Given the description of an element on the screen output the (x, y) to click on. 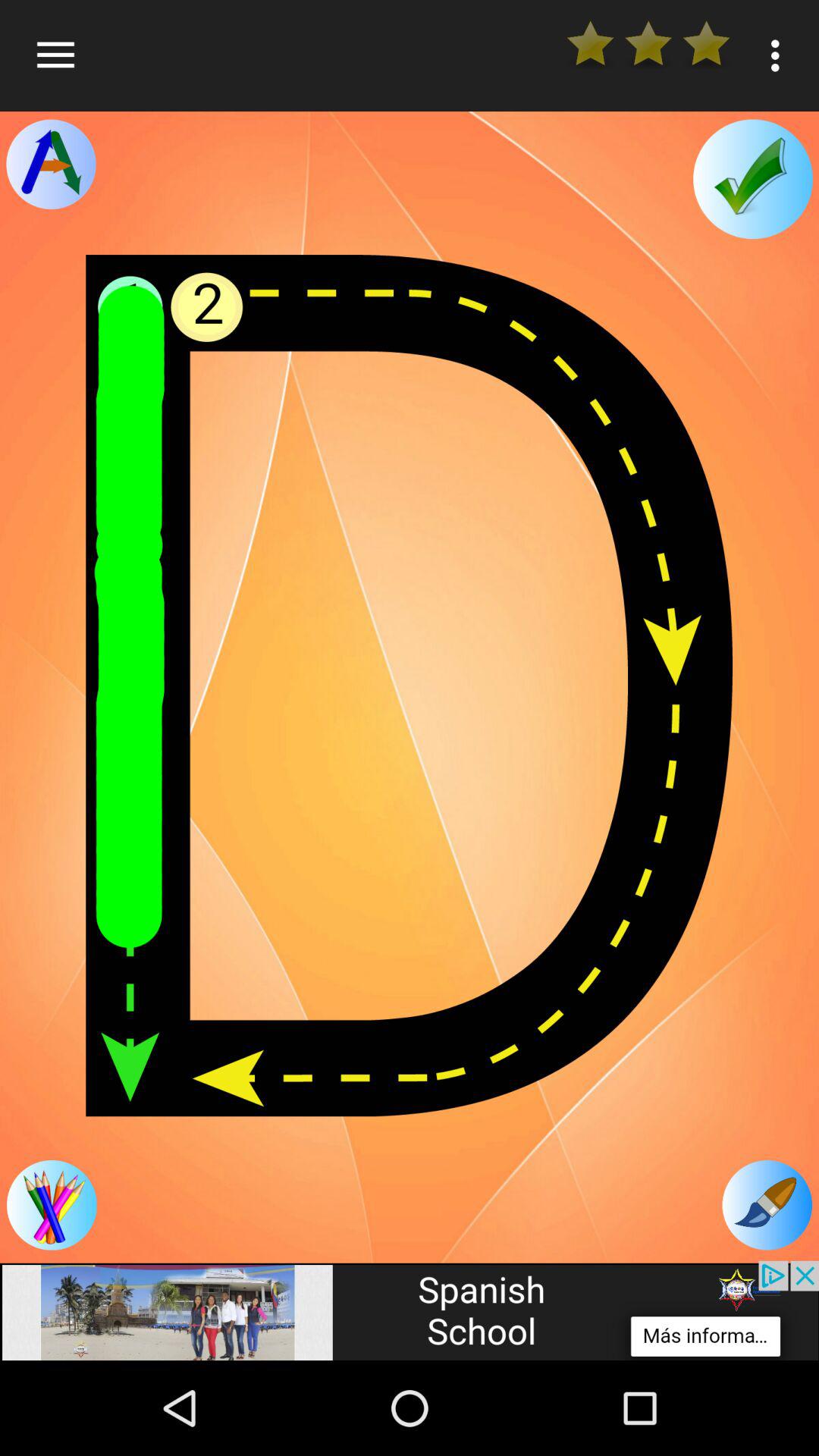
tap to choice a color (51, 1205)
